Given the description of an element on the screen output the (x, y) to click on. 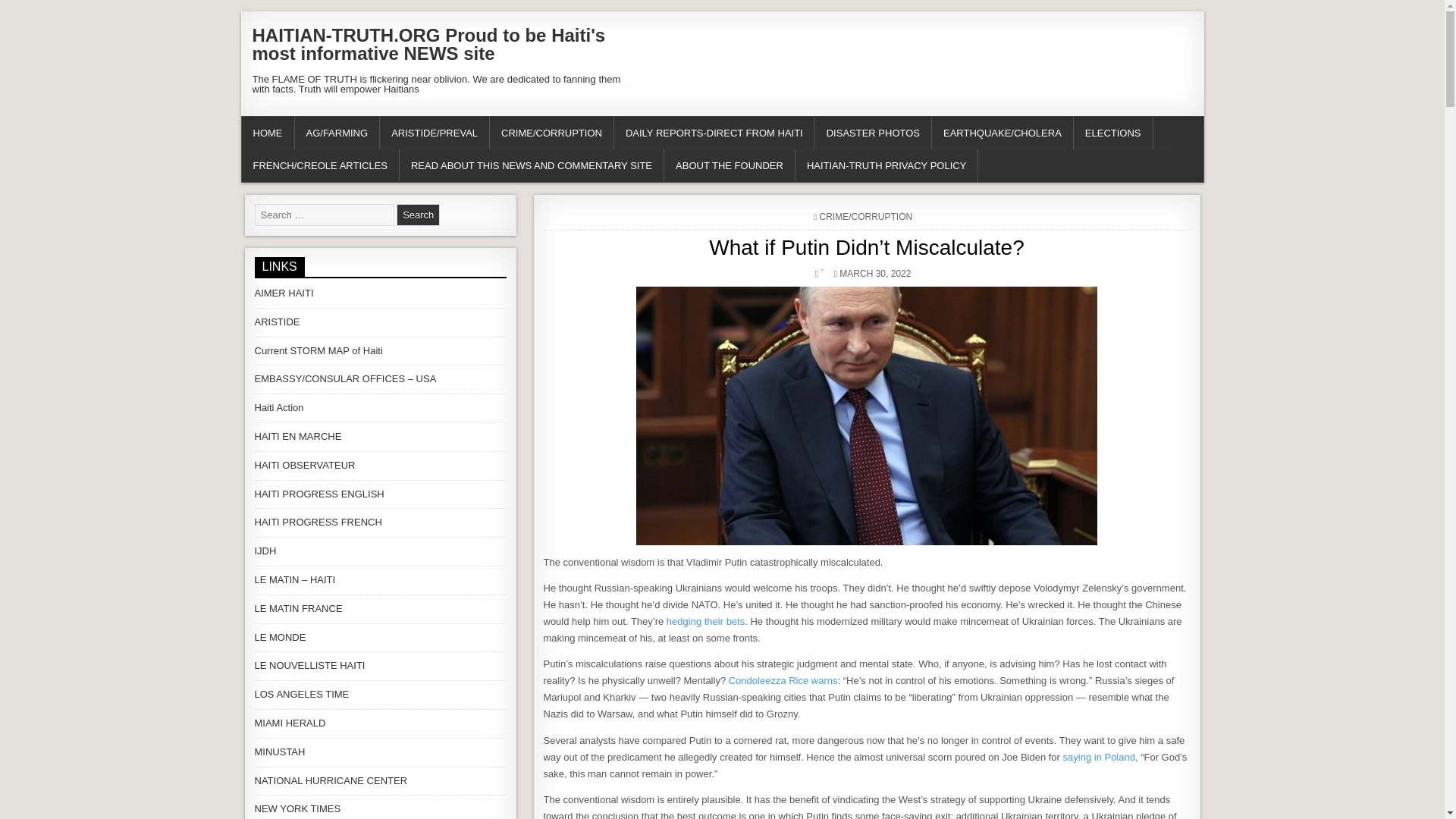
DAILY REPORTS-DIRECT FROM HAITI (714, 133)
HOME (267, 133)
saying in Poland (1098, 756)
READ ABOUT THIS NEWS AND COMMENTARY SITE (530, 165)
ELECTIONS (1113, 133)
Search (417, 214)
DISASTER PHOTOS (873, 133)
Search (417, 214)
hedging their bets (705, 621)
Condoleezza Rice warns (783, 680)
